Given the description of an element on the screen output the (x, y) to click on. 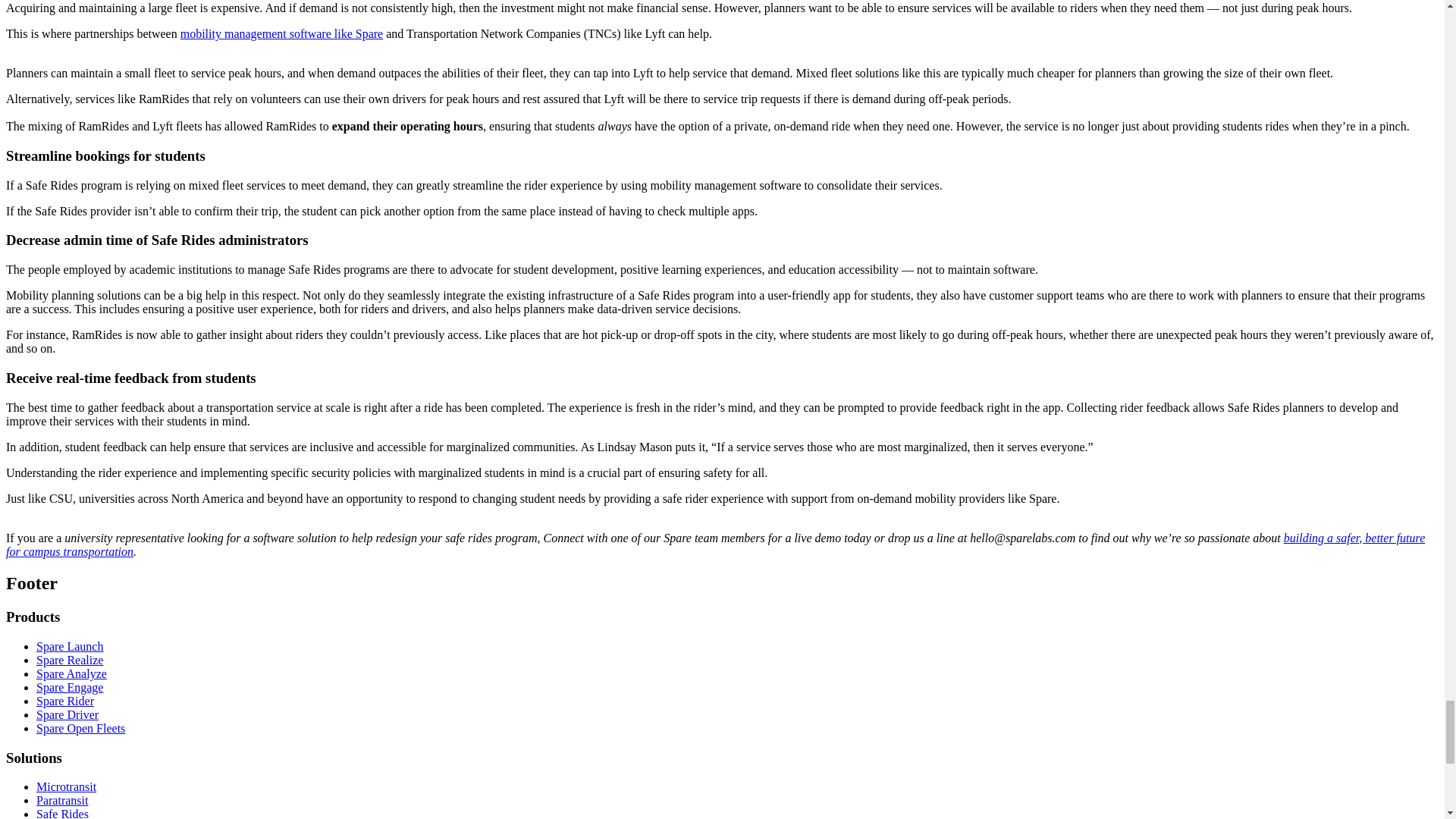
Spare Driver (67, 714)
Microtransit (66, 786)
Spare Rider (65, 700)
Spare Engage (69, 686)
mobility management software like Spare (281, 33)
Spare Launch (69, 645)
Spare Realize (69, 659)
Spare Open Fleets (80, 727)
Paratransit (61, 799)
Safe Rides (62, 813)
